Given the description of an element on the screen output the (x, y) to click on. 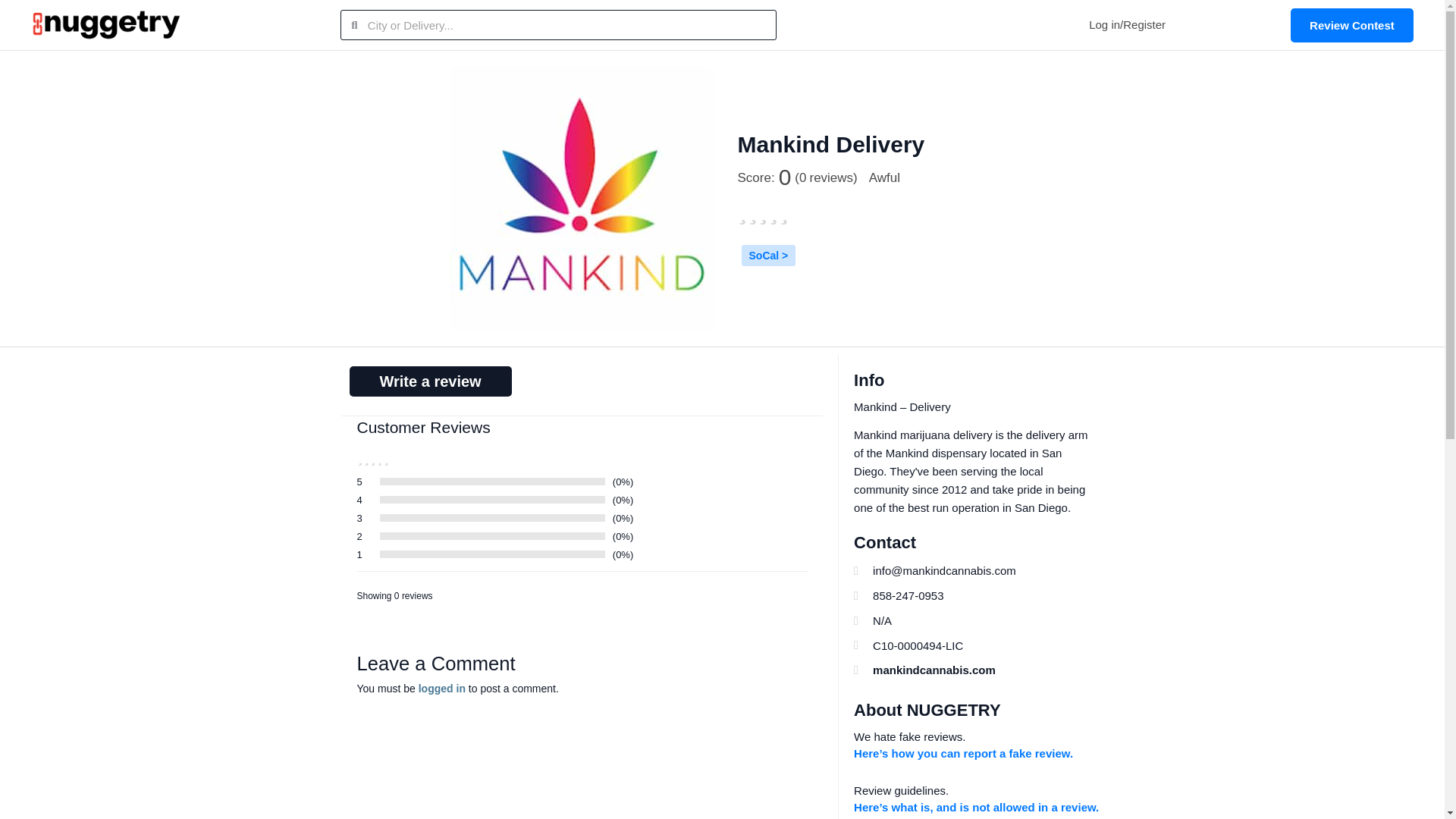
Mankind Dispensary Logo (581, 198)
Write a review (430, 381)
logged in (442, 688)
mankindcannabis.com (973, 670)
Review Contest (1351, 24)
